Given the description of an element on the screen output the (x, y) to click on. 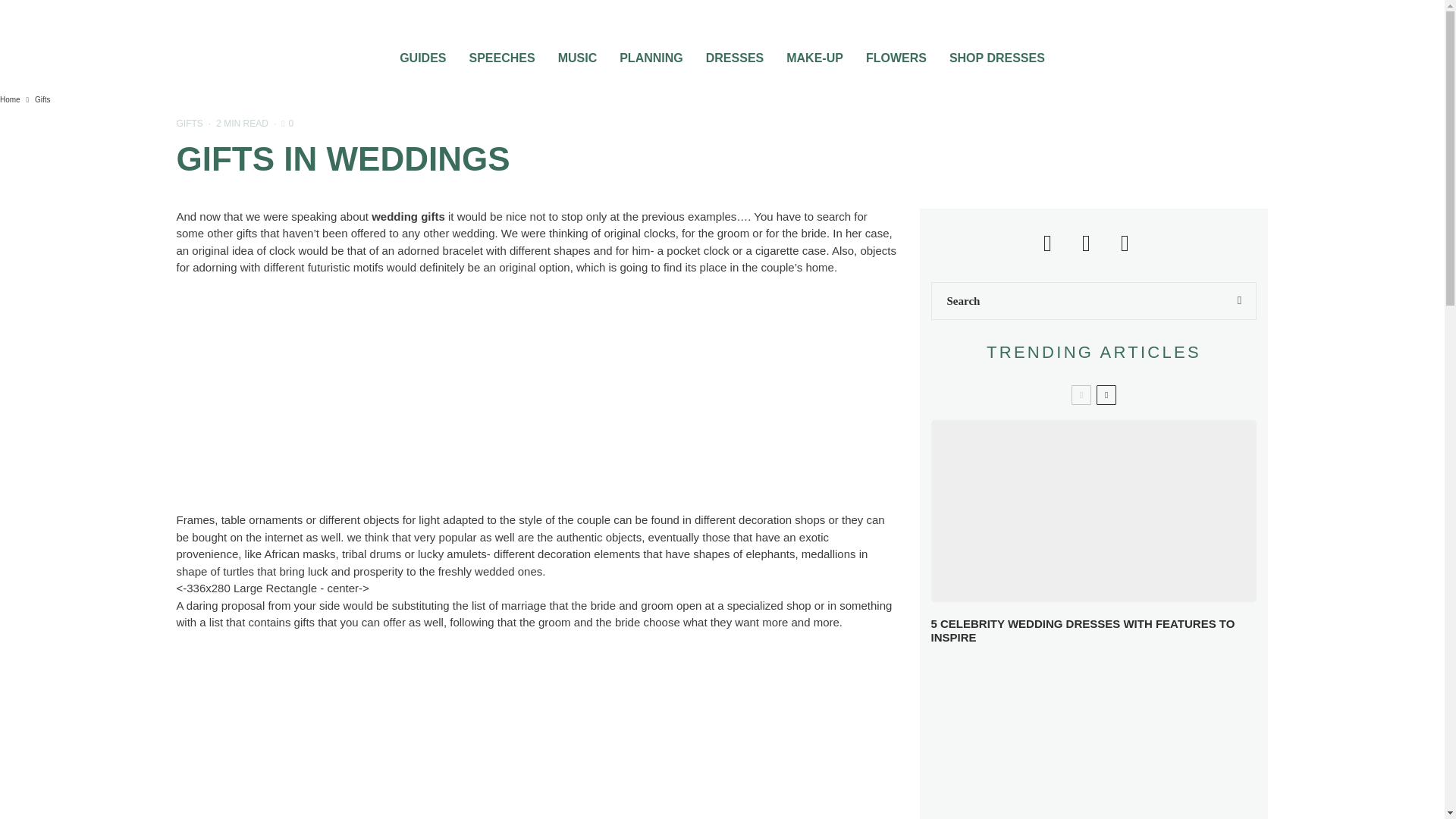
PLANNING (651, 52)
DRESSES (734, 52)
GUIDES (422, 52)
MUSIC (577, 52)
Wedding Planning (651, 52)
SPEECHES (501, 52)
